Given the description of an element on the screen output the (x, y) to click on. 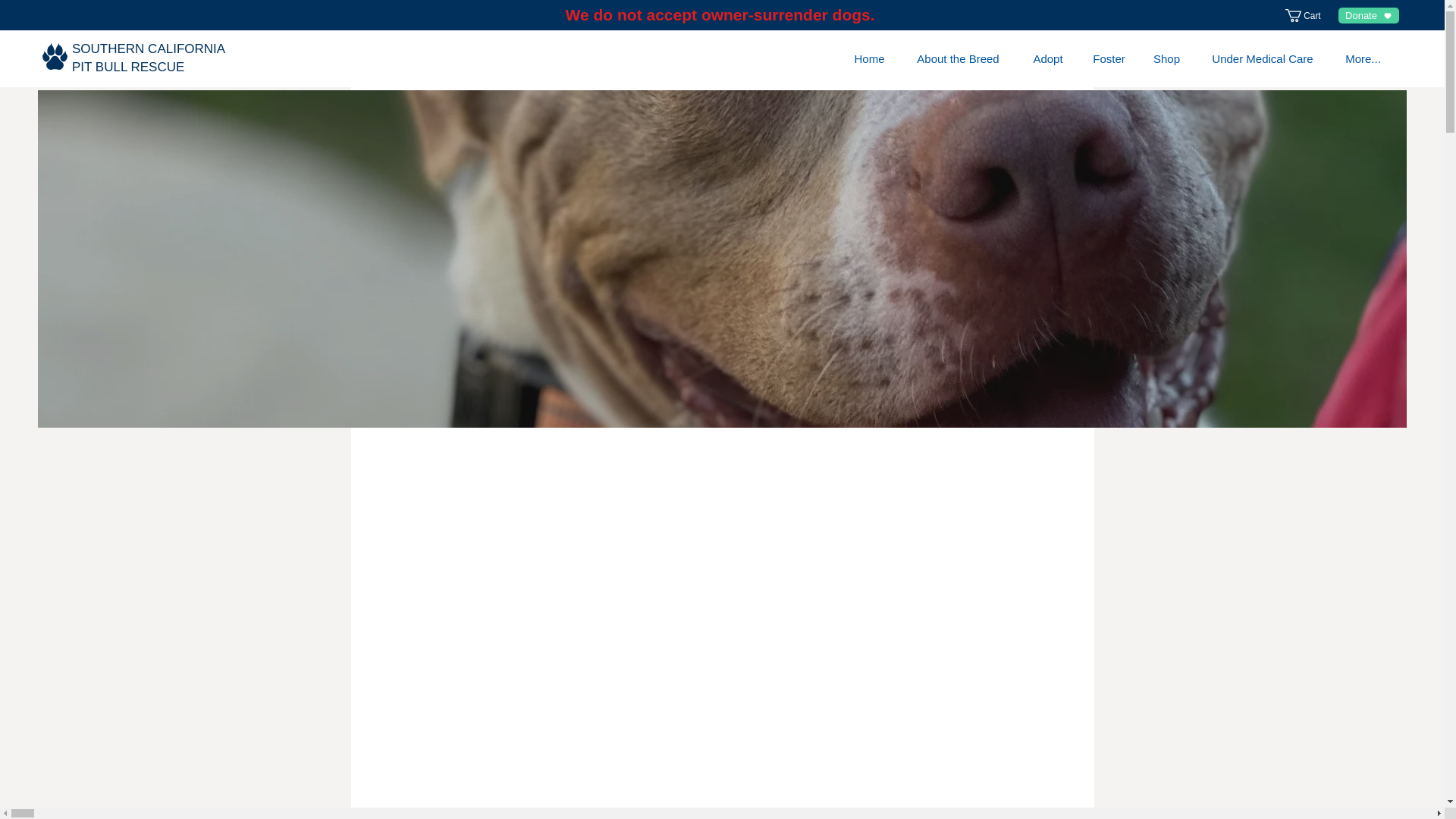
Home (869, 58)
Cart (1309, 15)
Cart (1309, 15)
Donate (1368, 15)
About the Breed (148, 57)
Shop (957, 58)
Under Medical Care (1166, 58)
